Given the description of an element on the screen output the (x, y) to click on. 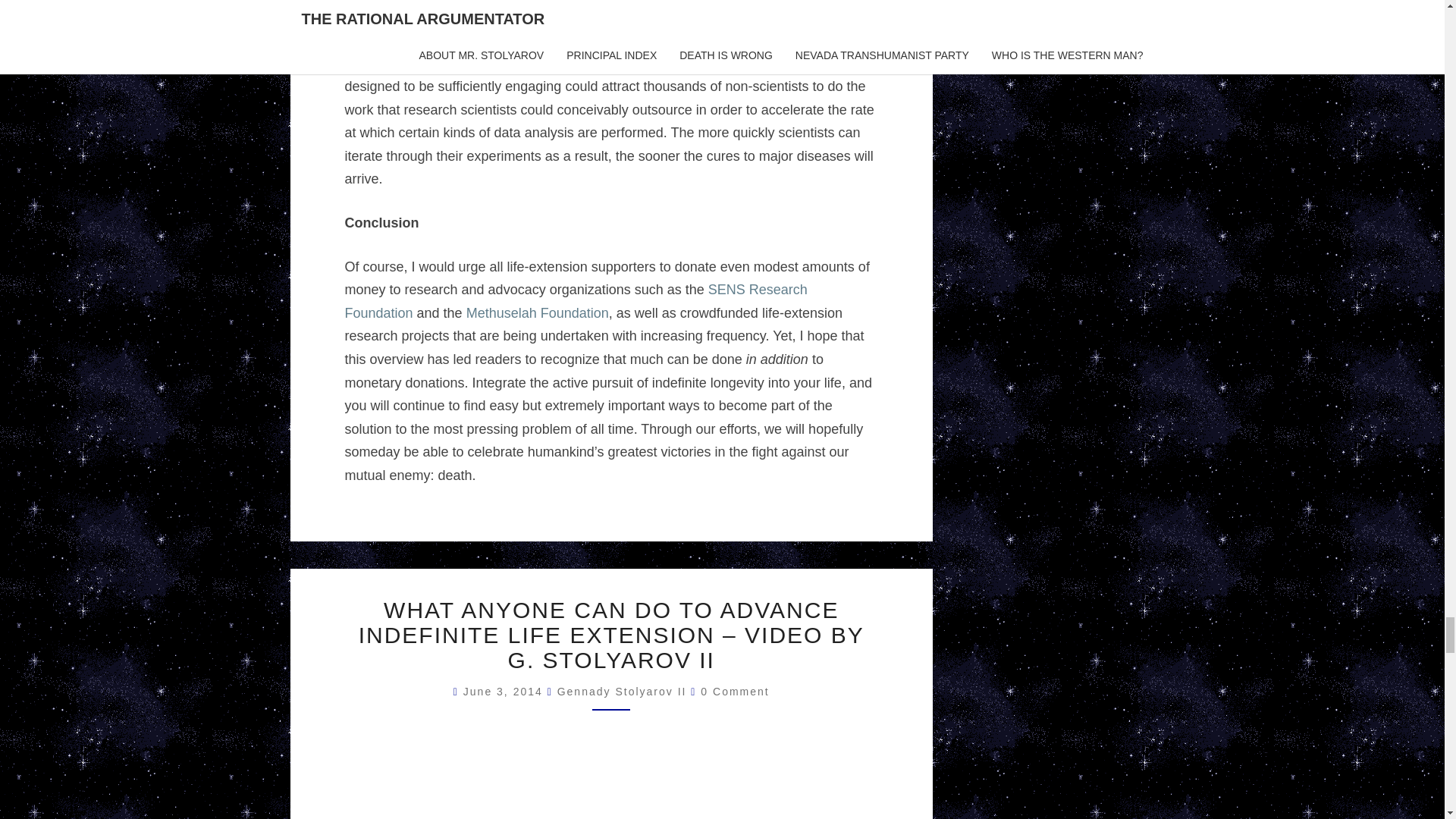
5:49 AM (505, 691)
View all posts by Gennady Stolyarov II (622, 691)
